Given the description of an element on the screen output the (x, y) to click on. 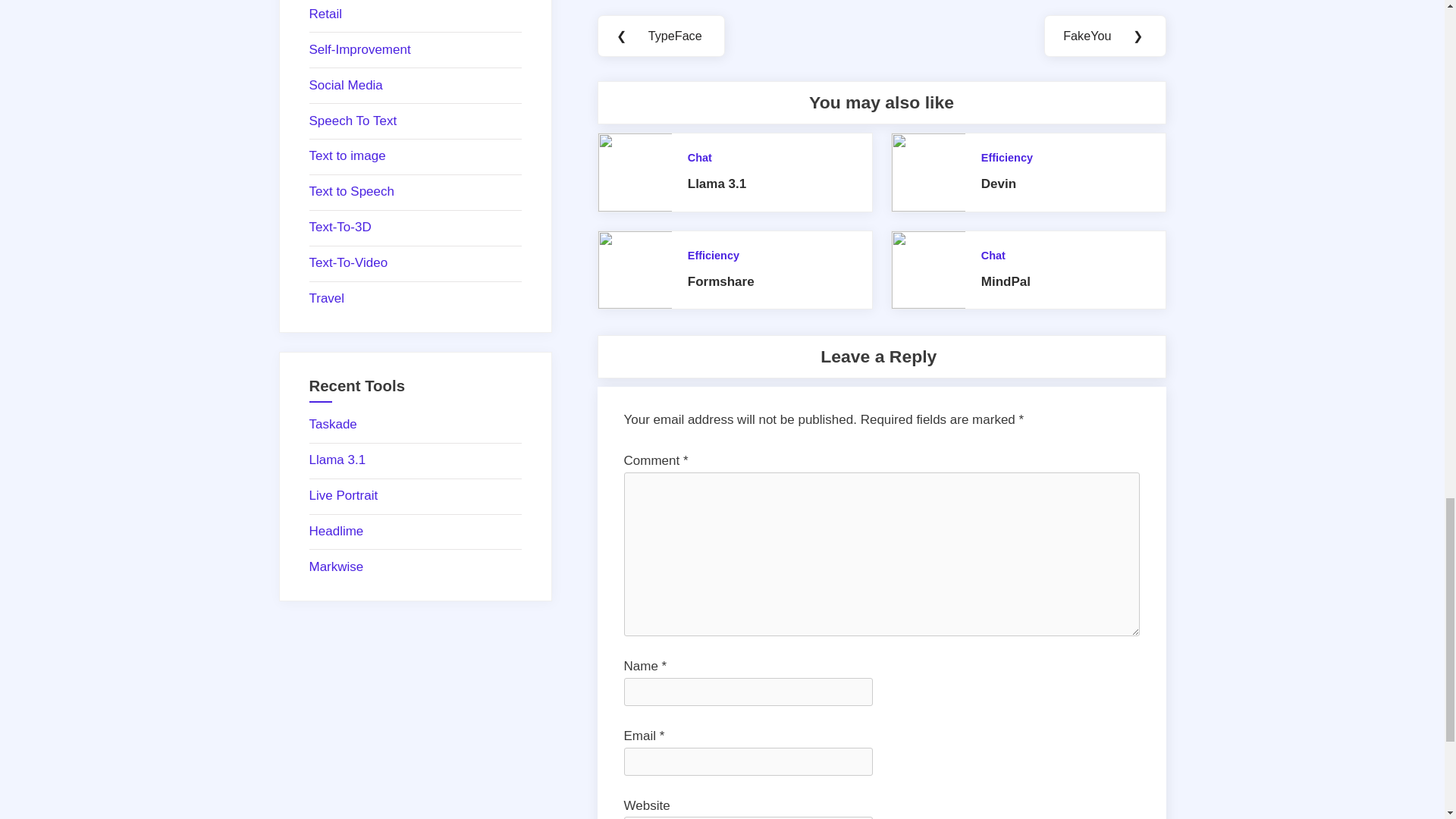
Chat (699, 157)
Formshare (720, 281)
Devin (998, 183)
Llama 3.1 (716, 183)
MindPal (1005, 281)
Efficiency (713, 255)
Chat (993, 255)
Efficiency (1006, 157)
